Given the description of an element on the screen output the (x, y) to click on. 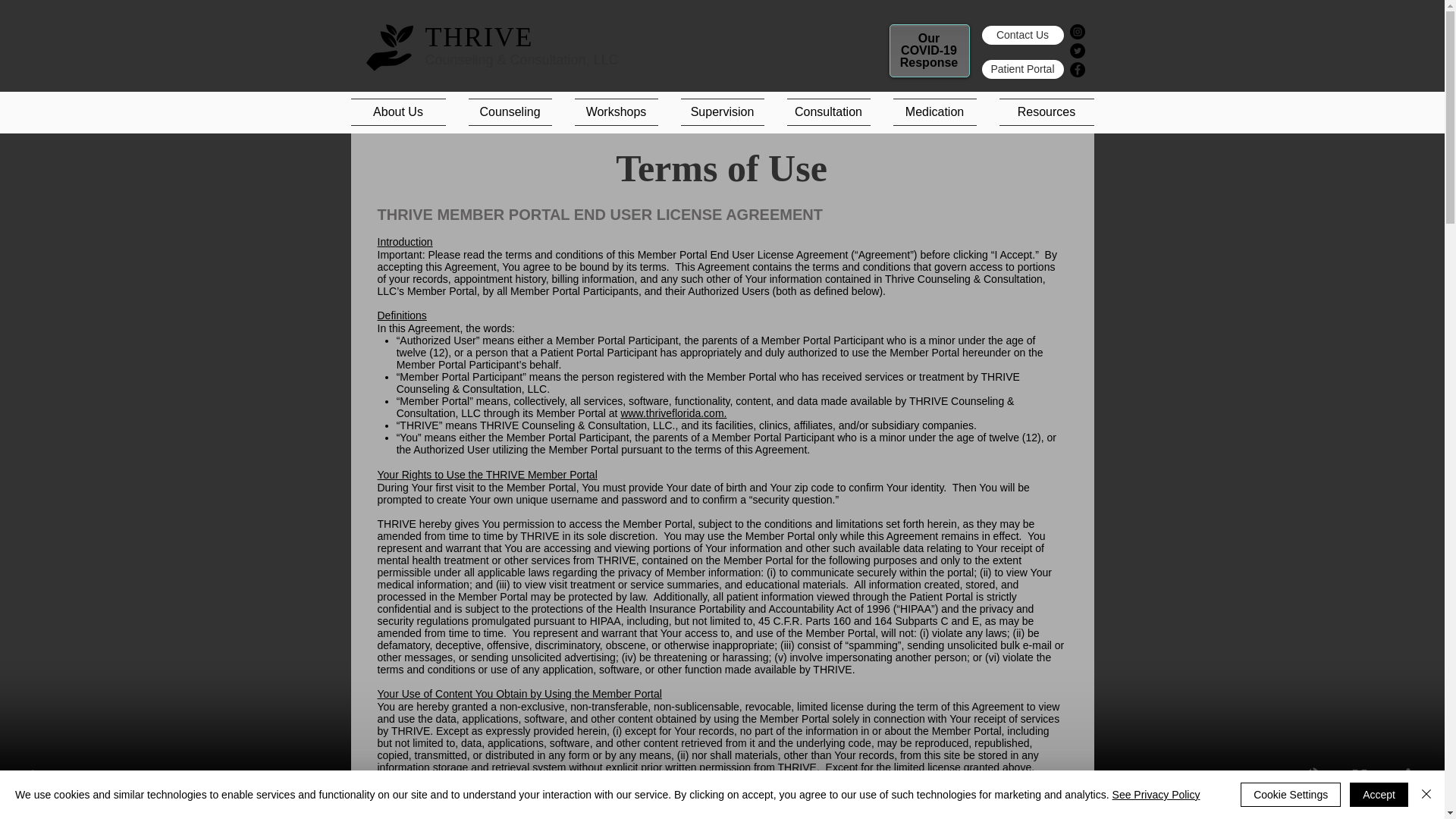
THRIVE (478, 37)
Medication (933, 112)
www.thriveflorida.com. (673, 413)
Counseling (509, 112)
About Us (403, 112)
Supervision (721, 112)
Patient Portal (1021, 69)
Resources (1040, 112)
Workshops (615, 112)
Consultation (827, 112)
Contact Us (1021, 34)
See Privacy Policy (1155, 794)
Accept (1378, 794)
